Given the description of an element on the screen output the (x, y) to click on. 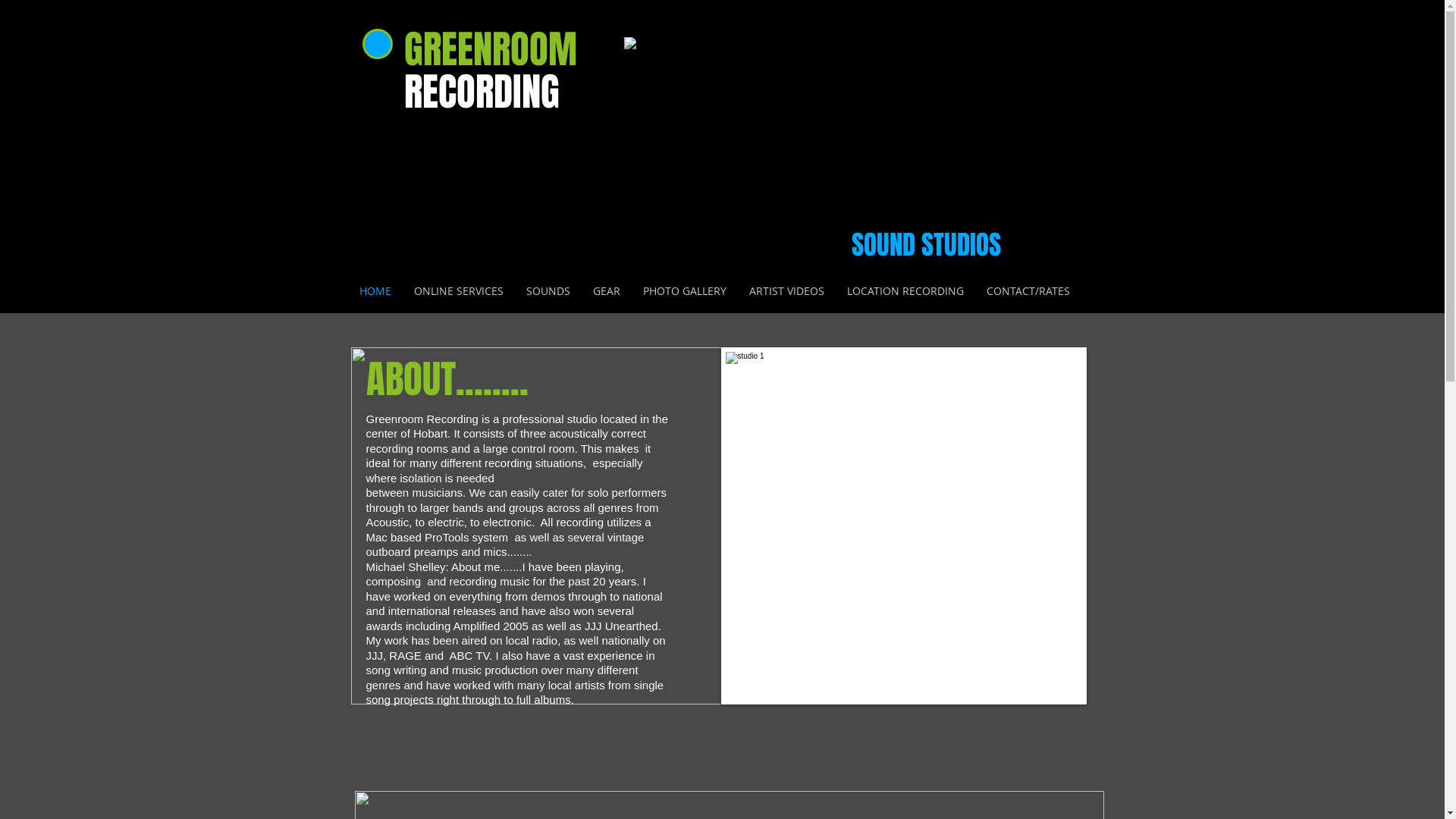
SOUNDS Element type: text (547, 290)
HOME Element type: text (374, 290)
LOCATION RECORDING Element type: text (905, 290)
ONLINE SERVICES Element type: text (457, 290)
GEAR Element type: text (605, 290)
original-logos_2015_Oct_7308-8362874_edited.jpg Element type: hover (721, 135)
ARTIST VIDEOS Element type: text (785, 290)
PHOTO GALLERY Element type: text (683, 290)
CONTACT/RATES Element type: text (1028, 290)
